Given the description of an element on the screen output the (x, y) to click on. 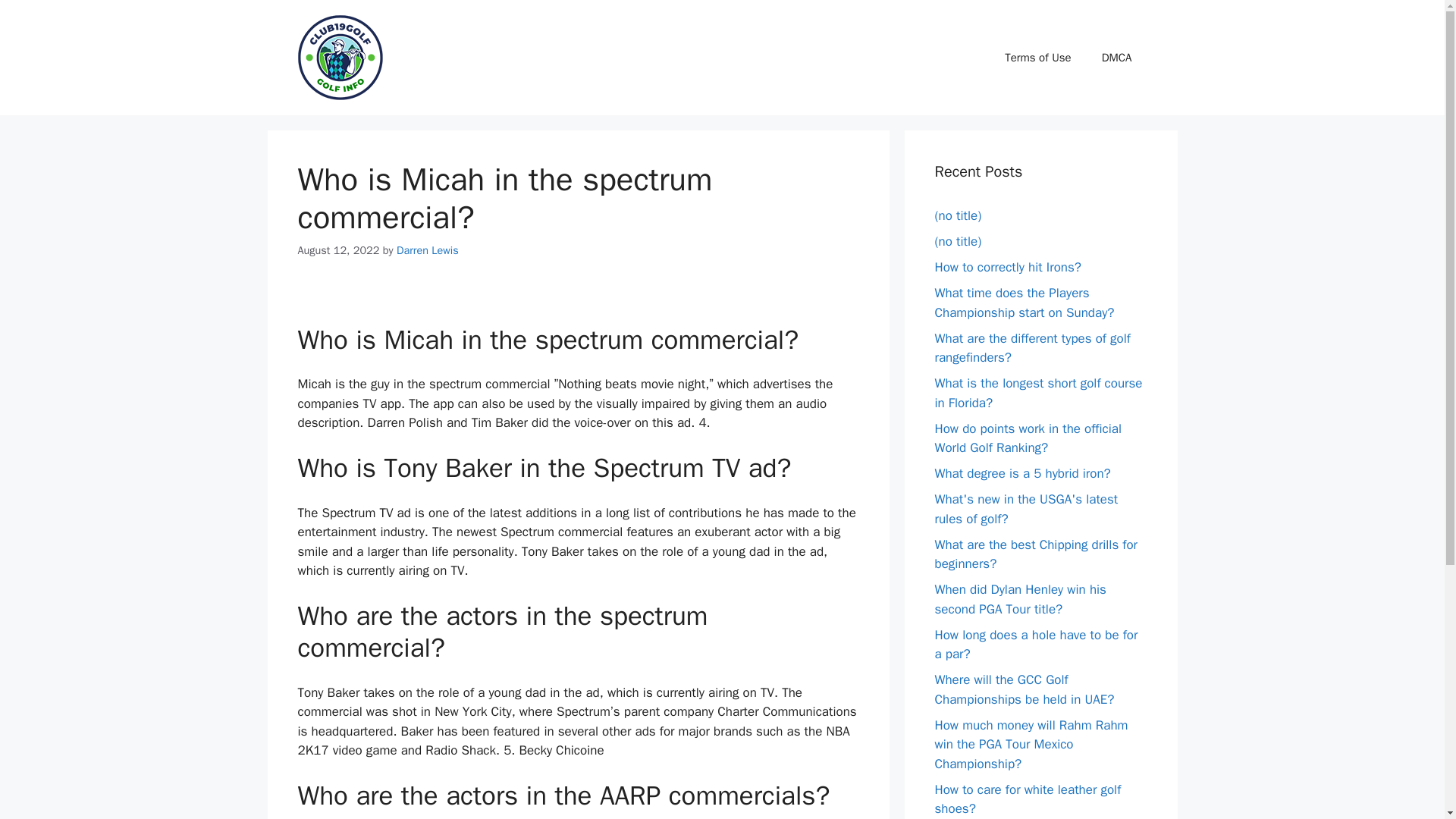
How do points work in the official World Golf Ranking? (1027, 437)
How long does a hole have to be for a par? (1035, 643)
Terms of Use (1038, 57)
DMCA (1116, 57)
How to correctly hit Irons? (1007, 267)
When did Dylan Henley win his second PGA Tour title? (1019, 599)
View all posts by Darren Lewis (427, 250)
What is the longest short golf course in Florida? (1037, 393)
How to care for white leather golf shoes? (1027, 798)
What are the different types of golf rangefinders? (1031, 348)
What are the best Chipping drills for beginners? (1035, 554)
Club19Golf.com (339, 57)
Darren Lewis (427, 250)
Where will the GCC Golf Championships be held in UAE? (1023, 689)
What time does the Players Championship start on Sunday? (1023, 303)
